Given the description of an element on the screen output the (x, y) to click on. 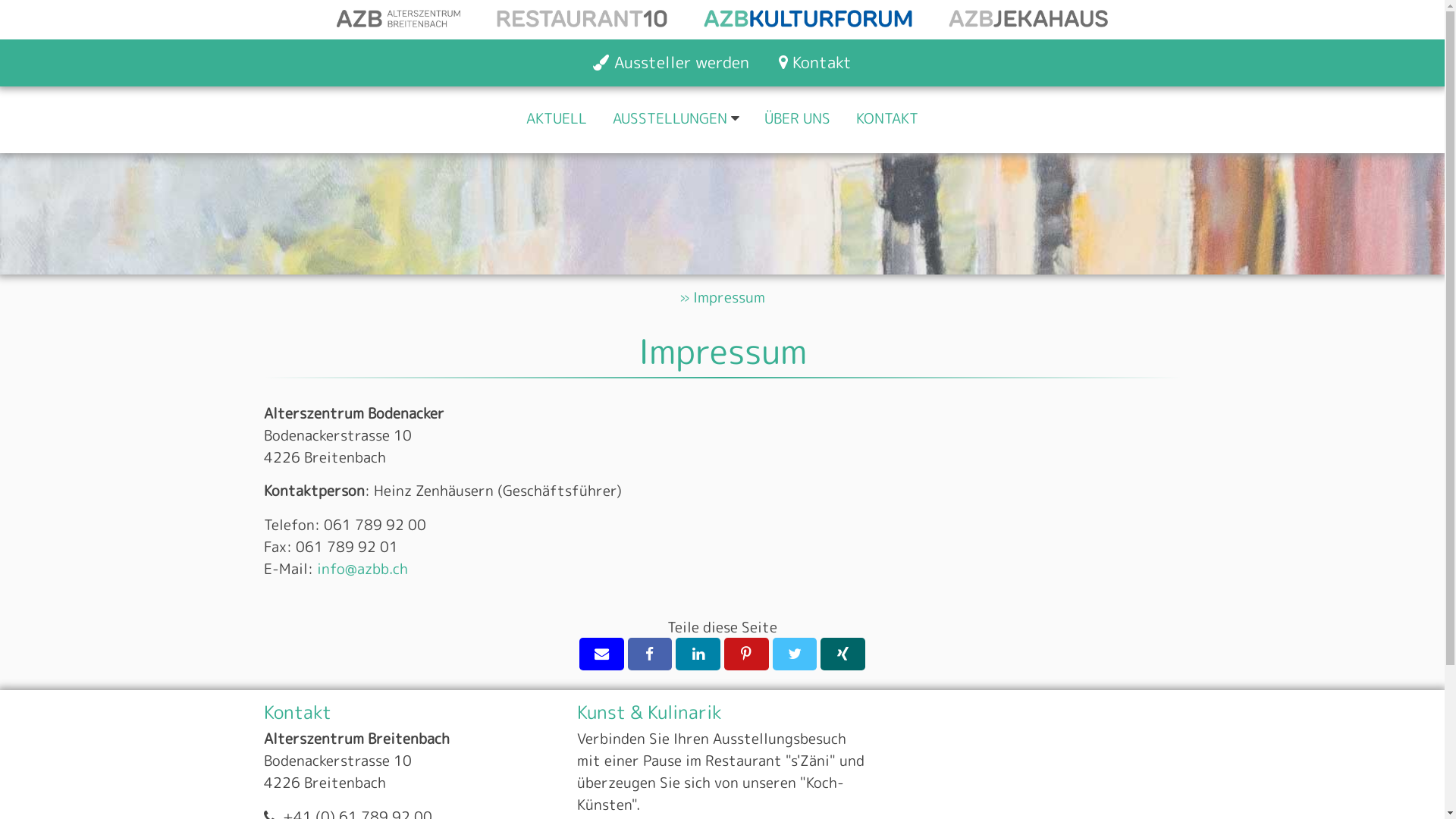
Jeka Haus Element type: hover (1028, 18)
Kulturforum Bodenacker Element type: hover (807, 18)
Alterszentrum Bodenacker Element type: hover (398, 18)
Aussteller werden Element type: text (670, 62)
auf Xing teilen Element type: hover (842, 653)
KONTAKT Element type: text (887, 119)
AKTUELL Element type: text (556, 119)
auf Twitter teilen Element type: hover (794, 653)
AUSSTELLUNGEN Element type: text (669, 119)
info@azbb.ch Element type: text (361, 569)
Impressum Element type: text (729, 297)
Kontakt Element type: text (814, 62)
auf Facebook teilen Element type: hover (649, 653)
auf Linked In teilen Element type: hover (697, 653)
auf Pinterest teilen Element type: hover (746, 653)
per E-Mail teilen Element type: hover (601, 653)
Vergangene Ausstellungen Element type: text (631, 166)
